Given the description of an element on the screen output the (x, y) to click on. 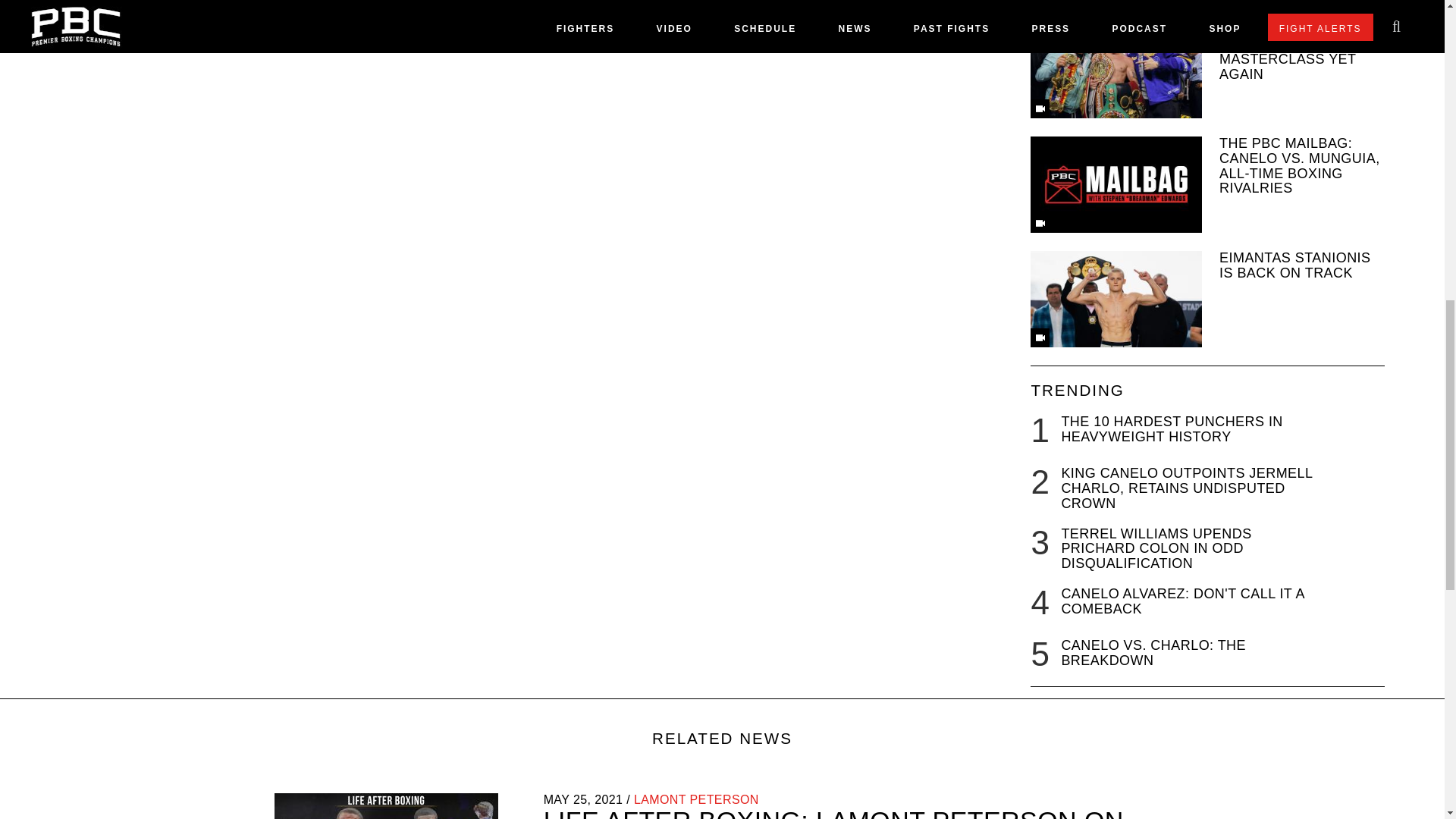
GERVONTA DAVIS IS HIM, STOPS FRANK MARTIN IN 8 ROUNDS (1207, 2)
CANELO ALVAREZ: DON'T CALL IT A COMEBACK (1182, 601)
CANELO VS. CHARLO: THE BREAKDOWN (1153, 653)
THE 10 HARDEST PUNCHERS IN HEAVYWEIGHT HISTORY (1171, 429)
EIMANTAS STANIONIS IS BACK ON TRACK (1207, 298)
May (556, 799)
KING CANELO DELIVERS A MASTERCLASS YET AGAIN (1207, 69)
